Given the description of an element on the screen output the (x, y) to click on. 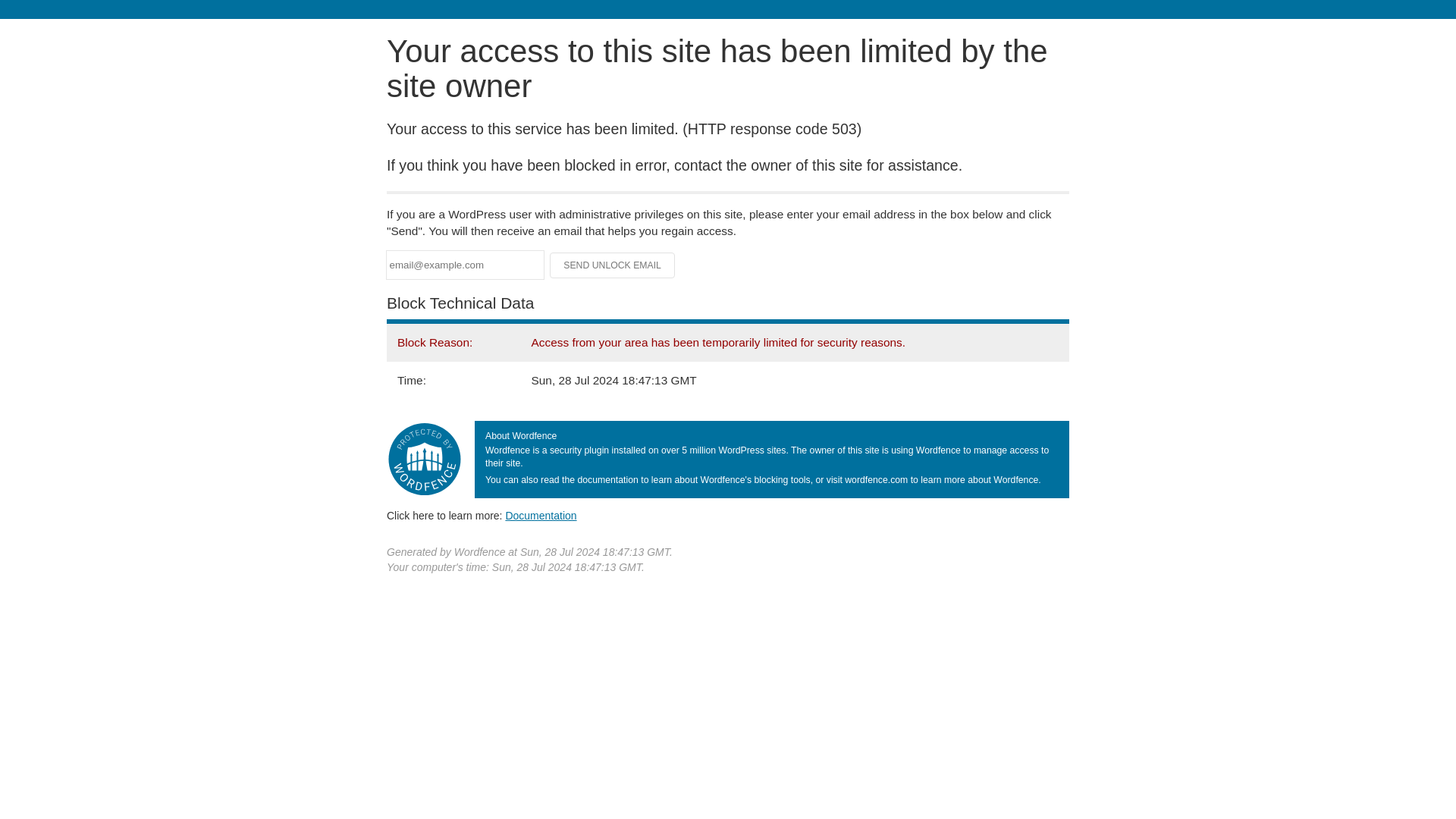
Send Unlock Email (612, 265)
Documentation (540, 515)
Send Unlock Email (612, 265)
